Given the description of an element on the screen output the (x, y) to click on. 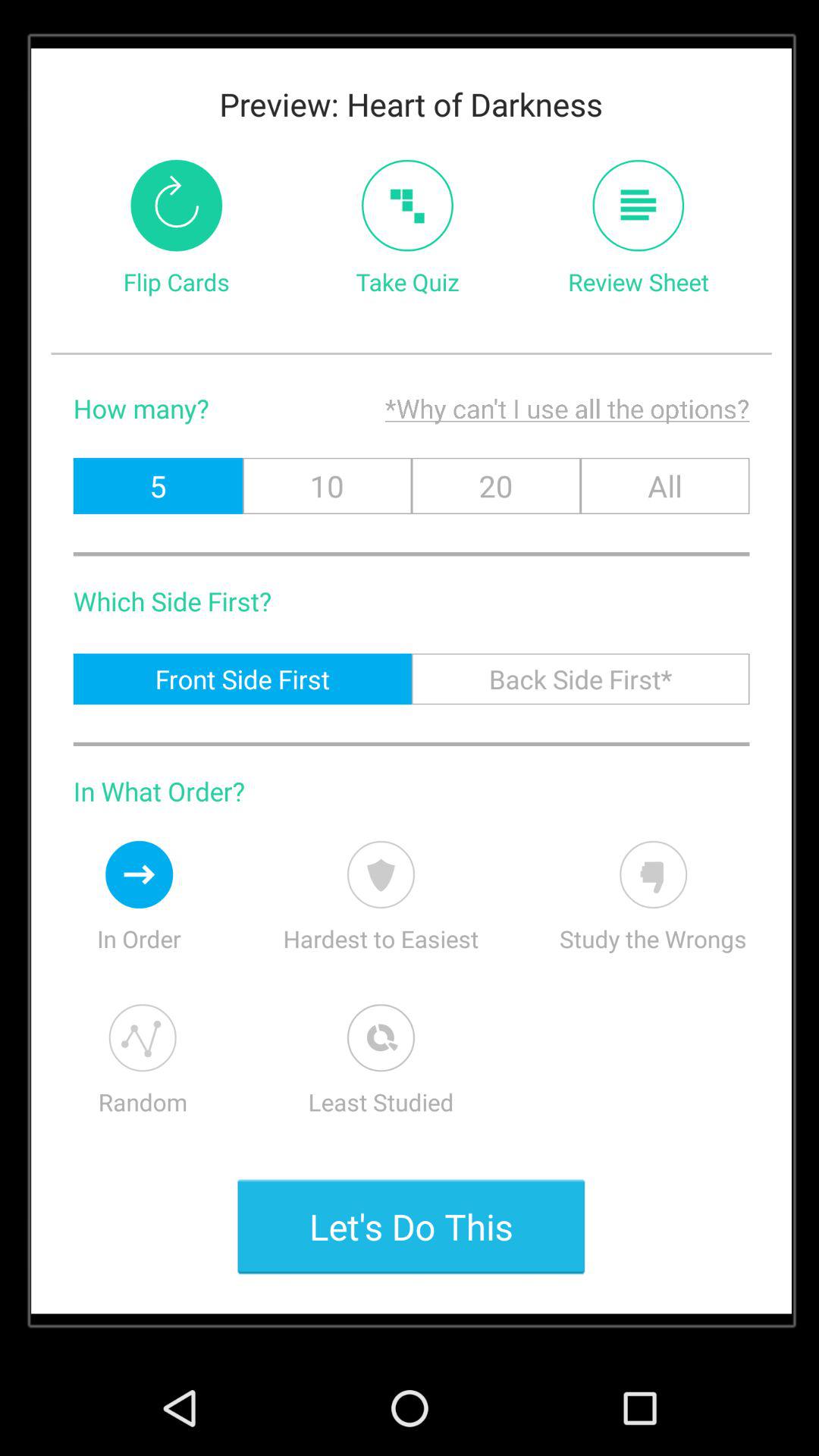
launch item next to 10 icon (495, 485)
